Given the description of an element on the screen output the (x, y) to click on. 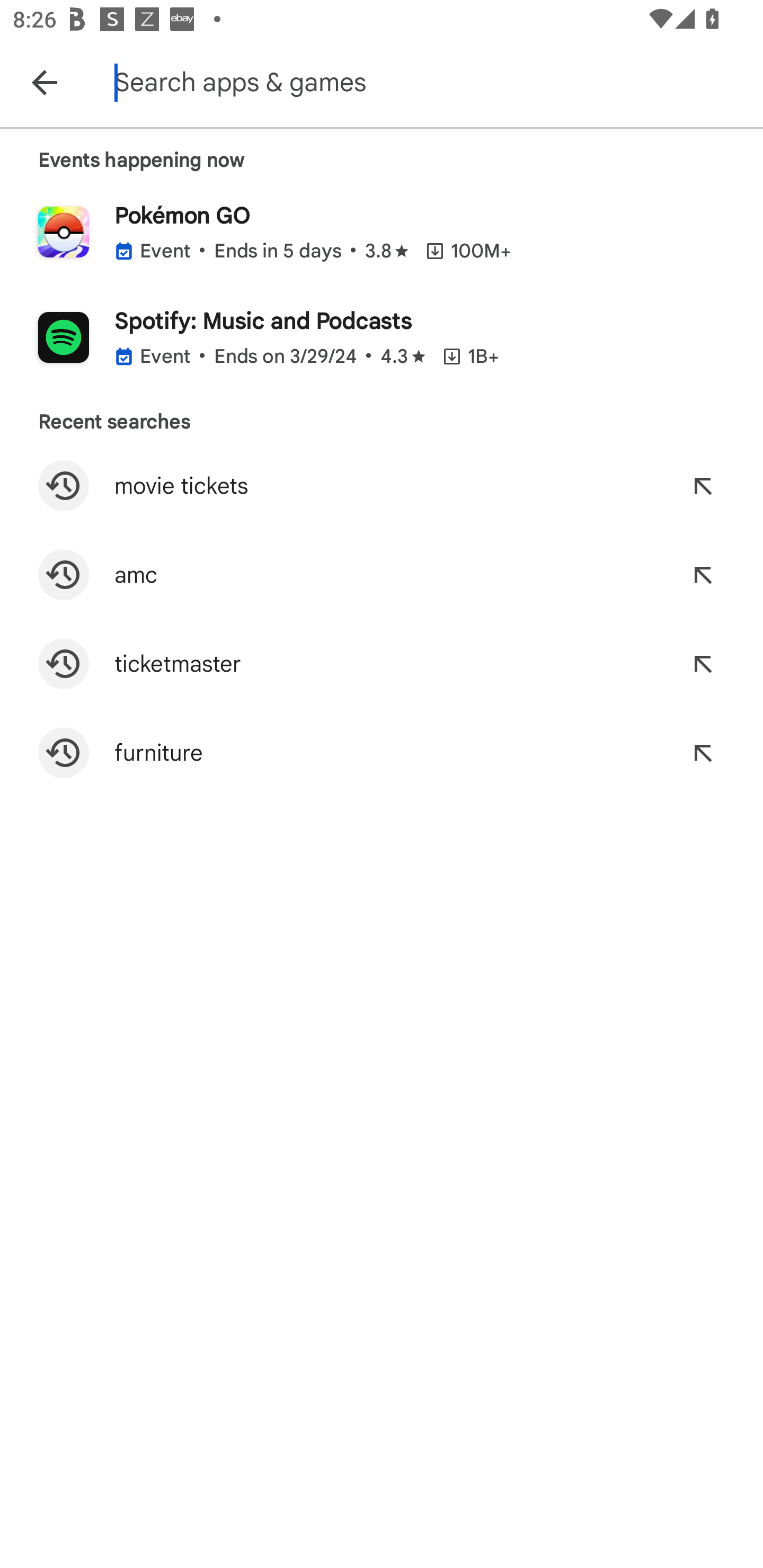
Navigate up (44, 81)
Search apps & games (435, 81)
Refine search to "movie tickets" (702, 484)
Search for "amc"  Refine search to "amc" (381, 574)
Refine search to "amc" (702, 574)
Refine search to "ticketmaster" (702, 663)
Refine search to "furniture" (702, 752)
